Given the description of an element on the screen output the (x, y) to click on. 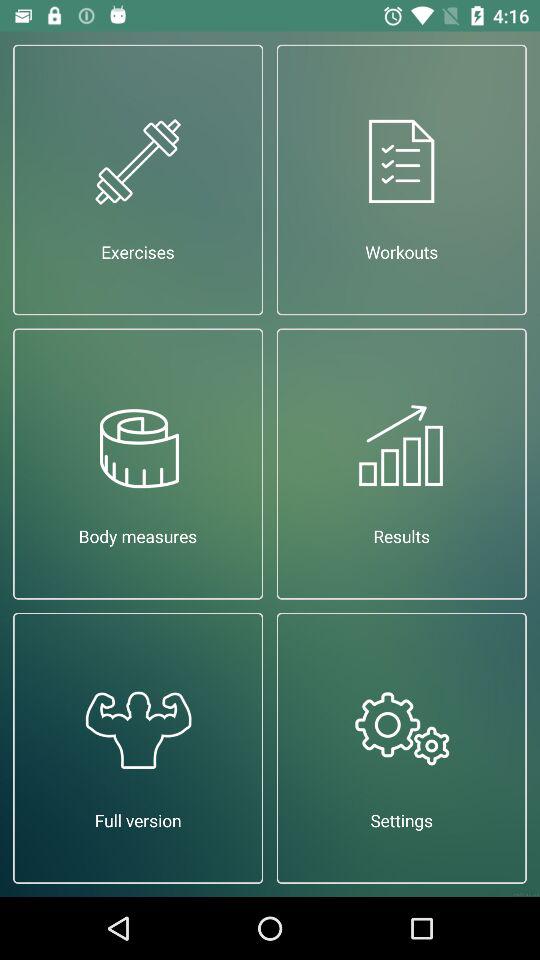
turn on the icon below the body measures (137, 748)
